Given the description of an element on the screen output the (x, y) to click on. 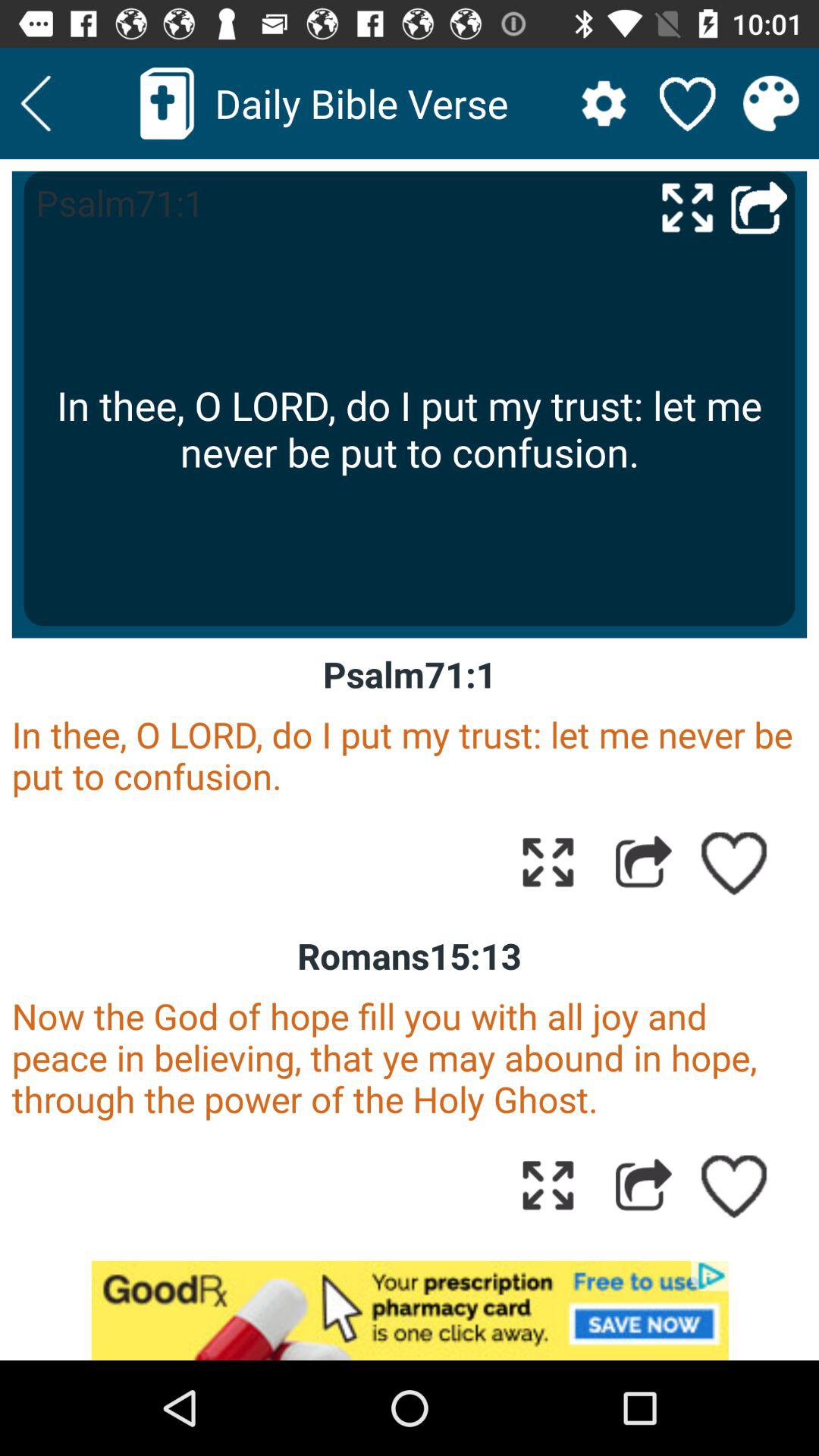
next button (35, 103)
